Given the description of an element on the screen output the (x, y) to click on. 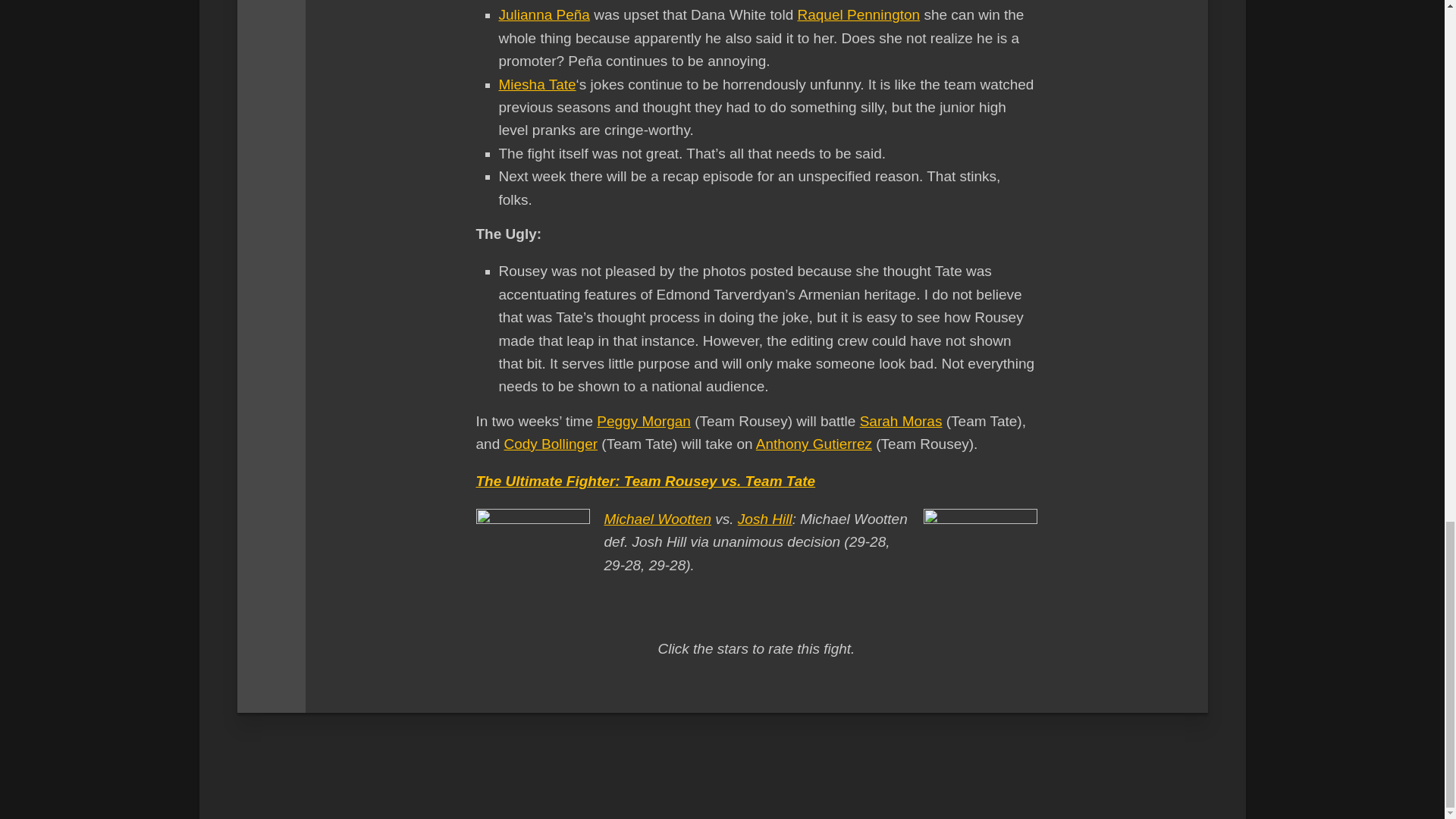
Miesha Tate (537, 84)
Peggy Morgan (643, 421)
Sarah Moras (901, 421)
Cody Bollinger (549, 443)
Anthony Gutierrez (813, 443)
Josh Hill (765, 519)
Raquel Pennington (858, 14)
The Ultimate Fighter: Team Rousey vs. Team Tate (645, 480)
Michael Wootten (657, 519)
